Given the description of an element on the screen output the (x, y) to click on. 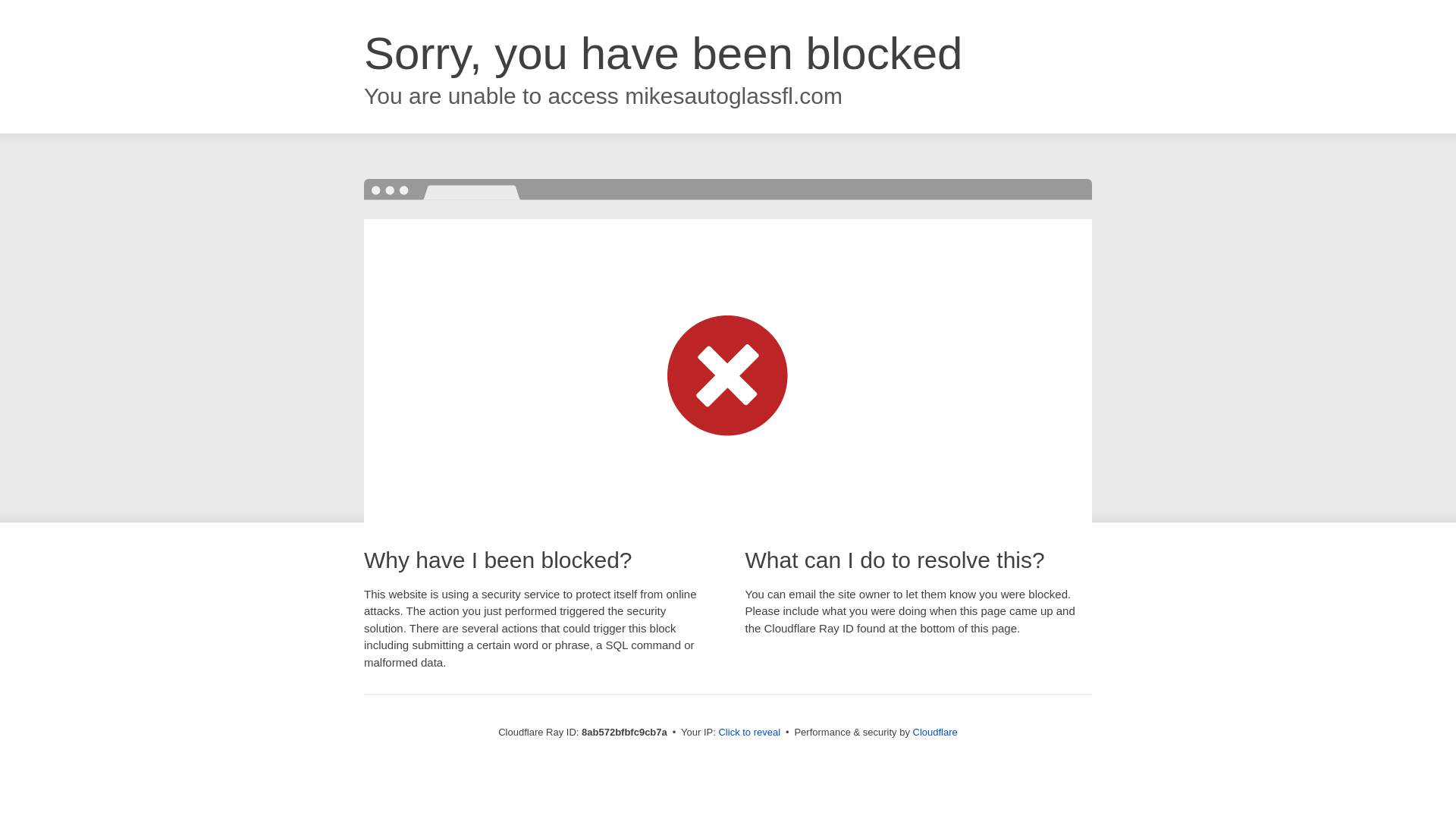
Click to reveal (748, 732)
Cloudflare (935, 731)
